Given the description of an element on the screen output the (x, y) to click on. 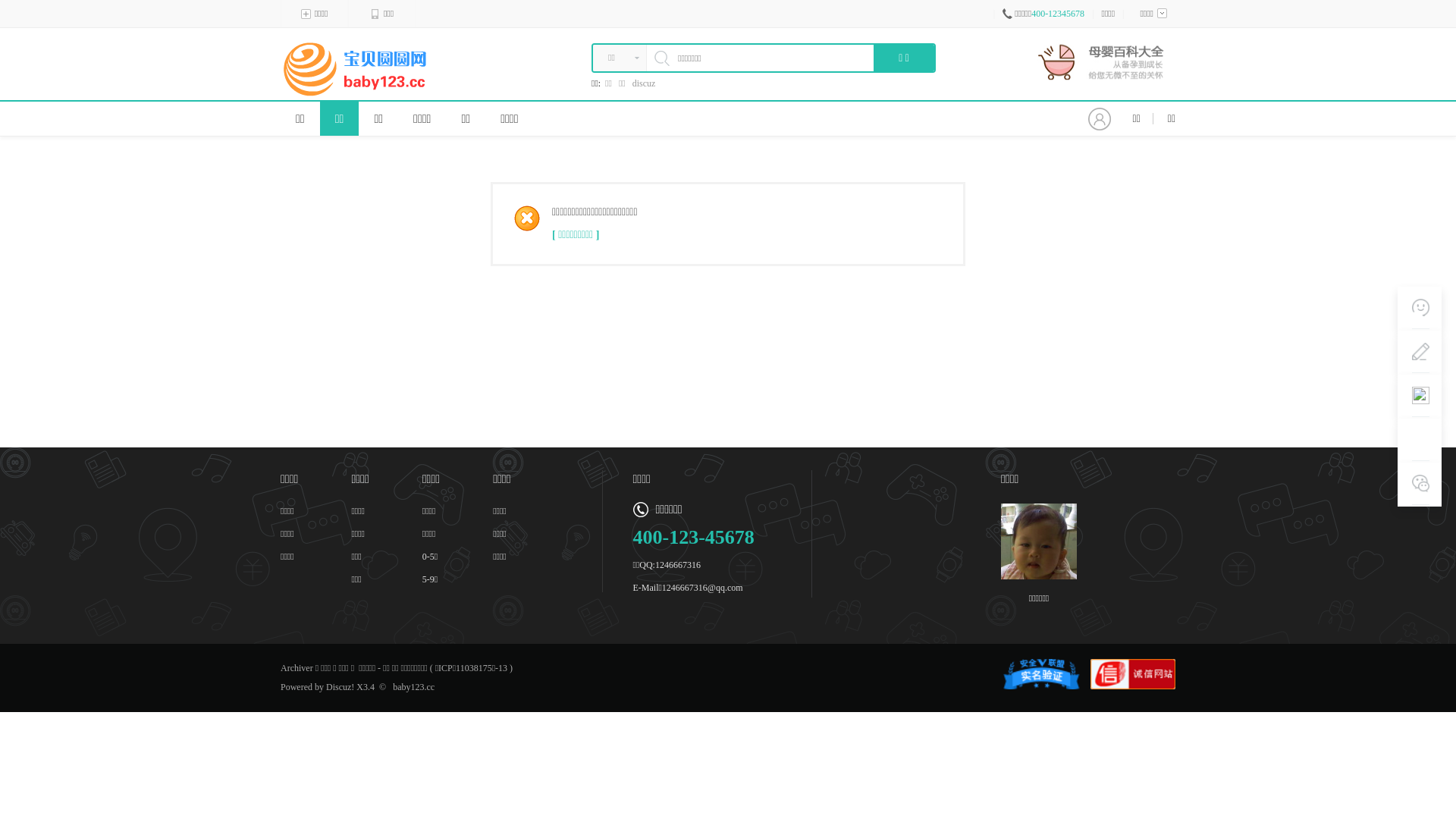
baby123.cc Element type: text (413, 686)
discuz Element type: text (644, 83)
Discuz! Element type: text (340, 686)
Archiver Element type: text (296, 667)
